Given the description of an element on the screen output the (x, y) to click on. 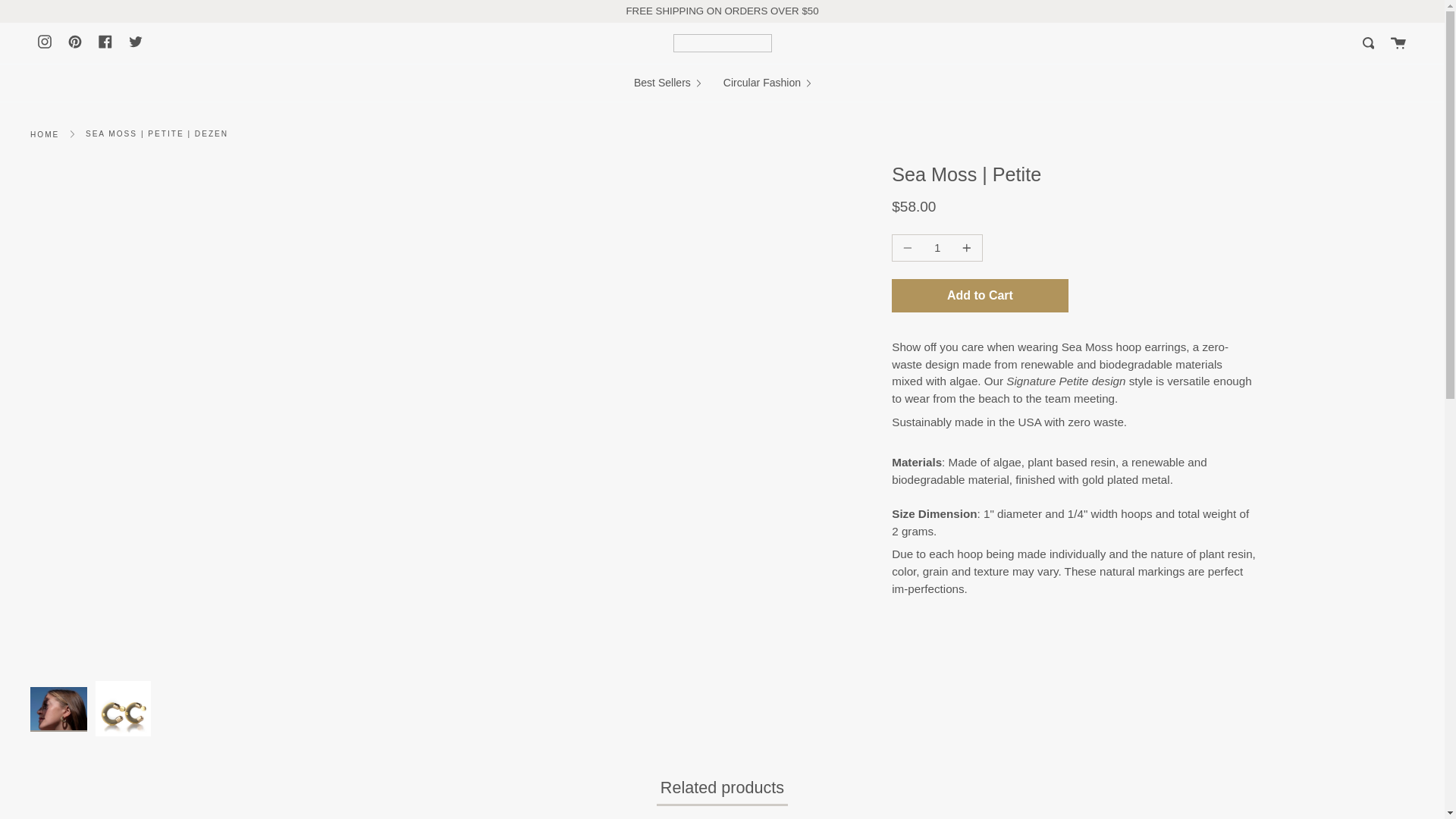
Add to Cart (979, 295)
1 (936, 247)
HOME (44, 134)
Best Sellers (667, 82)
Circular Fashion (766, 82)
